Given the description of an element on the screen output the (x, y) to click on. 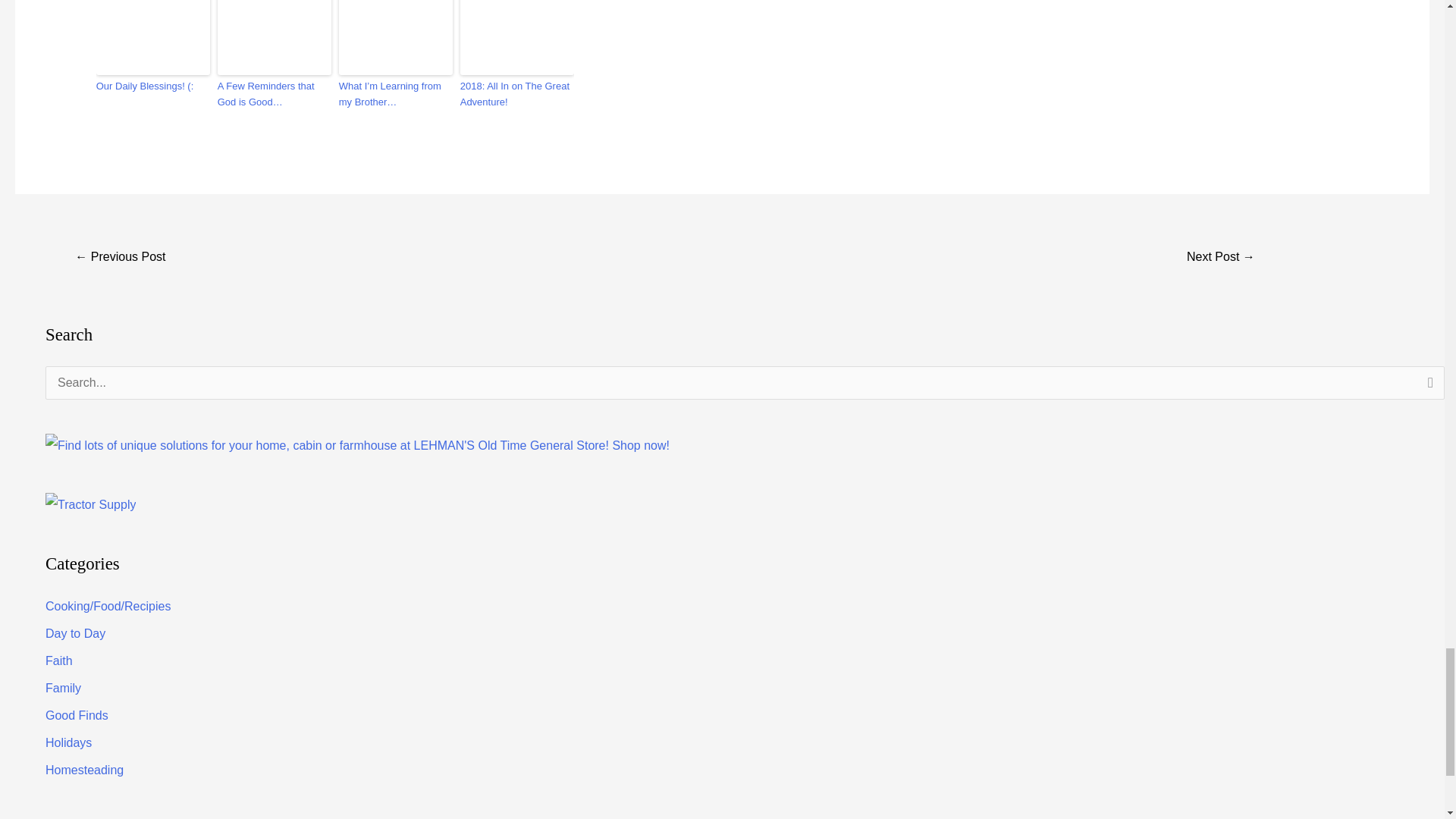
Tractor Supply (90, 504)
Mom was Right...Again! (119, 257)
